Given the description of an element on the screen output the (x, y) to click on. 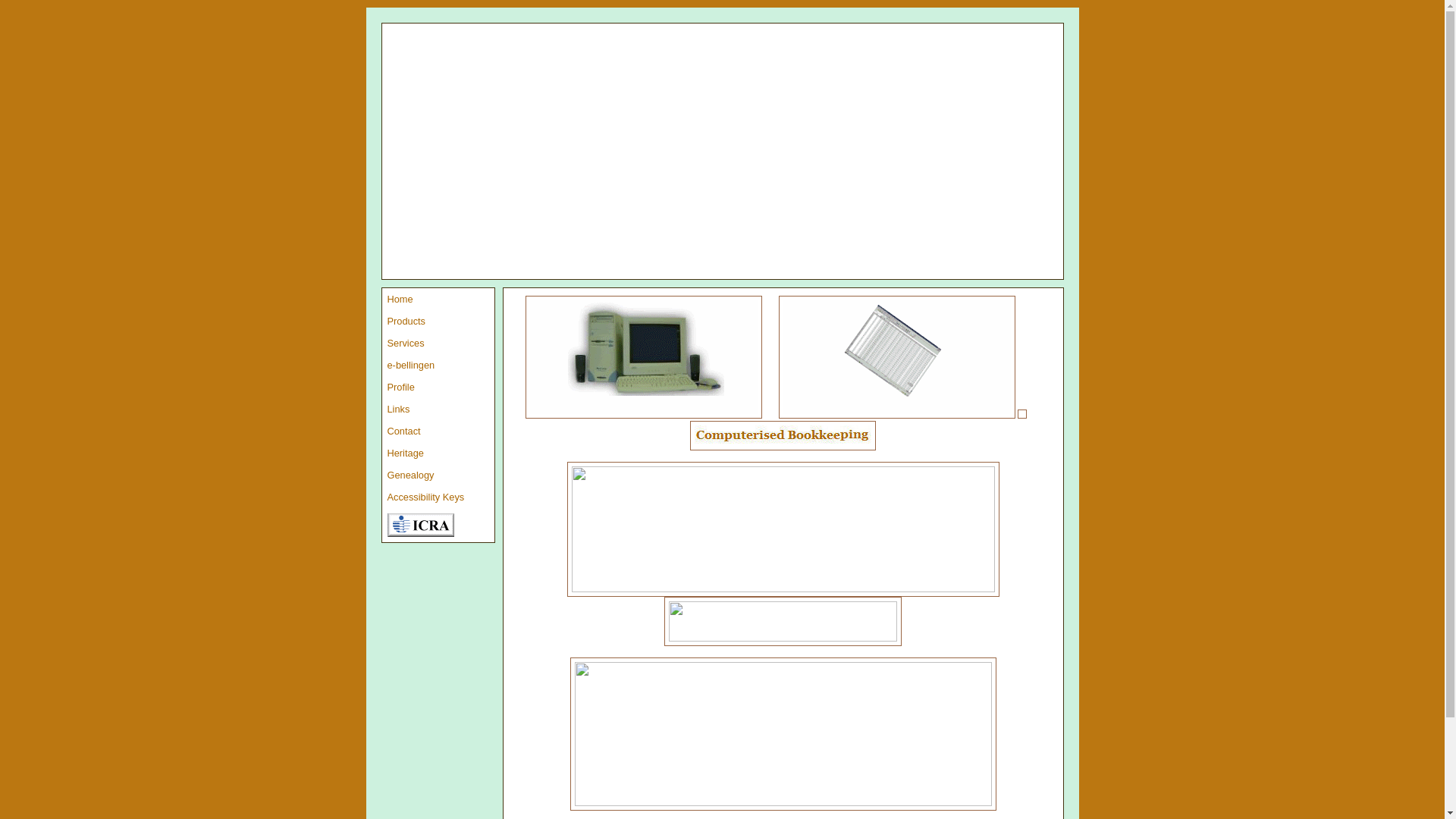
Links Element type: text (437, 408)
Contact Element type: text (437, 430)
Accessibility Keys Element type: text (437, 496)
Heritage Element type: text (437, 452)
masthead Element type: hover (721, 151)
Profile Element type: text (437, 386)
Services Element type: text (437, 342)
Products Element type: text (437, 320)
Home Element type: text (437, 298)
e-bellingen Element type: text (437, 364)
Genealogy Element type: text (437, 474)
